Given the description of an element on the screen output the (x, y) to click on. 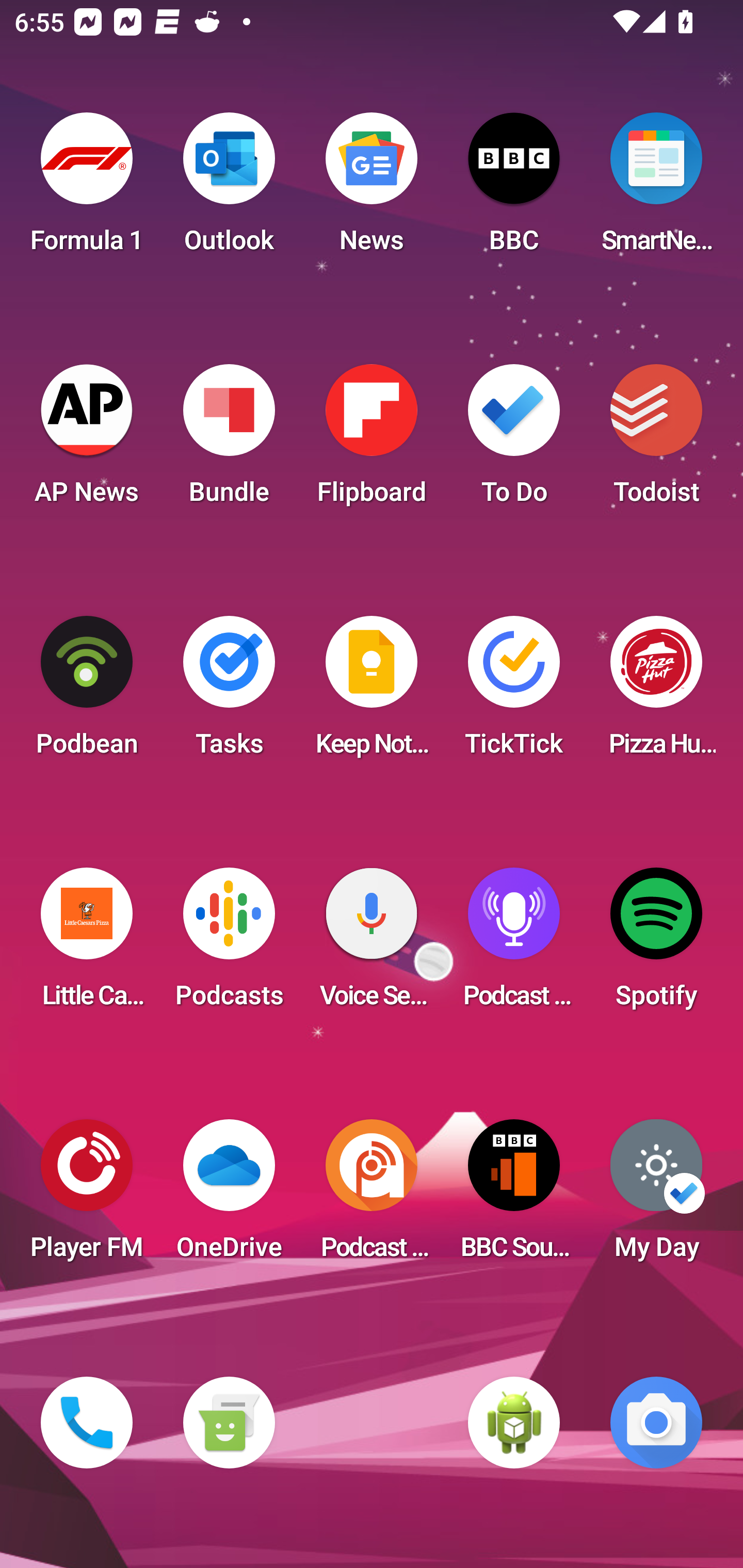
Formula 1 (86, 188)
Outlook (228, 188)
News (371, 188)
BBC (513, 188)
SmartNews (656, 188)
AP News (86, 440)
Bundle (228, 440)
Flipboard (371, 440)
To Do (513, 440)
Todoist (656, 440)
Podbean (86, 692)
Tasks (228, 692)
Keep Notes (371, 692)
TickTick (513, 692)
Pizza Hut HK & Macau (656, 692)
Little Caesars Pizza (86, 943)
Podcasts (228, 943)
Voice Search (371, 943)
Podcast Player (513, 943)
Spotify (656, 943)
Player FM (86, 1195)
OneDrive (228, 1195)
Podcast Addict (371, 1195)
BBC Sounds (513, 1195)
My Day (656, 1195)
Phone (86, 1422)
Messaging (228, 1422)
WebView Browser Tester (513, 1422)
Camera (656, 1422)
